Given the description of an element on the screen output the (x, y) to click on. 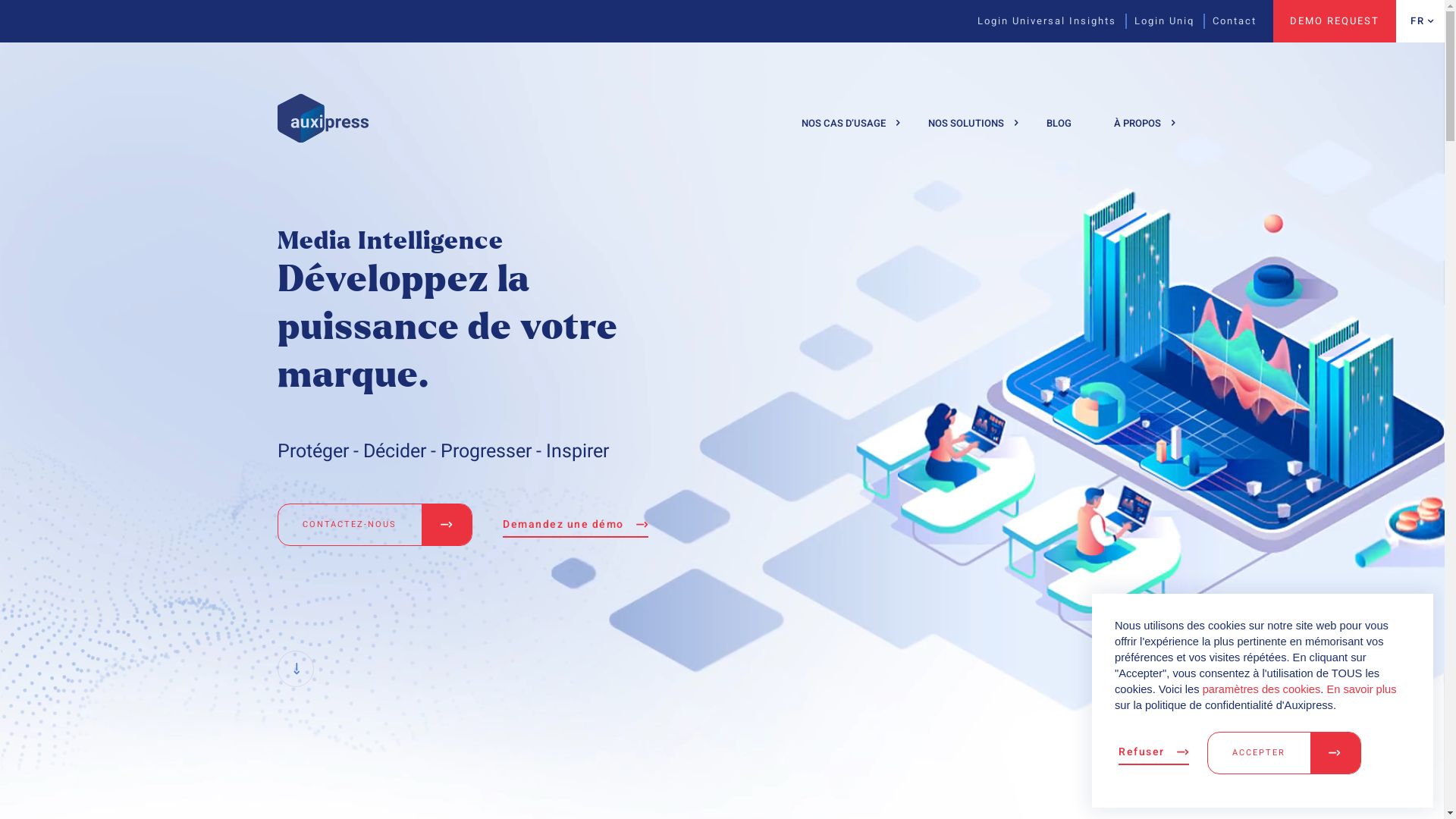
REPUTATION MANAGEMENT REPORT Element type: text (377, 403)
BLOG Element type: text (1058, 122)
Login Universal Insights Element type: text (1037, 21)
EXECUTIVE REPORT Element type: text (377, 239)
En savoir plus Element type: text (1361, 688)
PROGRESSEZ Element type: text (877, 323)
NL Element type: text (1418, 112)
INSPIREZ Element type: text (877, 372)
FR Element type: text (1417, 21)
TOUS NOS CAS D'USAGE Element type: text (877, 178)
Contact Element type: text (1225, 21)
Scroll down Element type: hover (295, 668)
PARTENAIRES Element type: text (1189, 227)
AUDIENCE INSIGHTS Element type: text (377, 457)
Refuser Element type: text (1153, 751)
EN Element type: text (1418, 70)
MEDIATOPIQ Element type: text (377, 555)
UNIVERSAL INSIGHTS Element type: text (377, 287)
ACCEPTER Element type: text (1284, 752)
NOS SOLUTIONS Element type: text (966, 122)
CONTACTEZ-NOUS Element type: text (374, 524)
DEMO REQUEST Element type: text (1334, 21)
MEDIA MONITORING & SOCIAL LISTENING Element type: text (377, 184)
Login Uniq Element type: text (1155, 21)
